Given the description of an element on the screen output the (x, y) to click on. 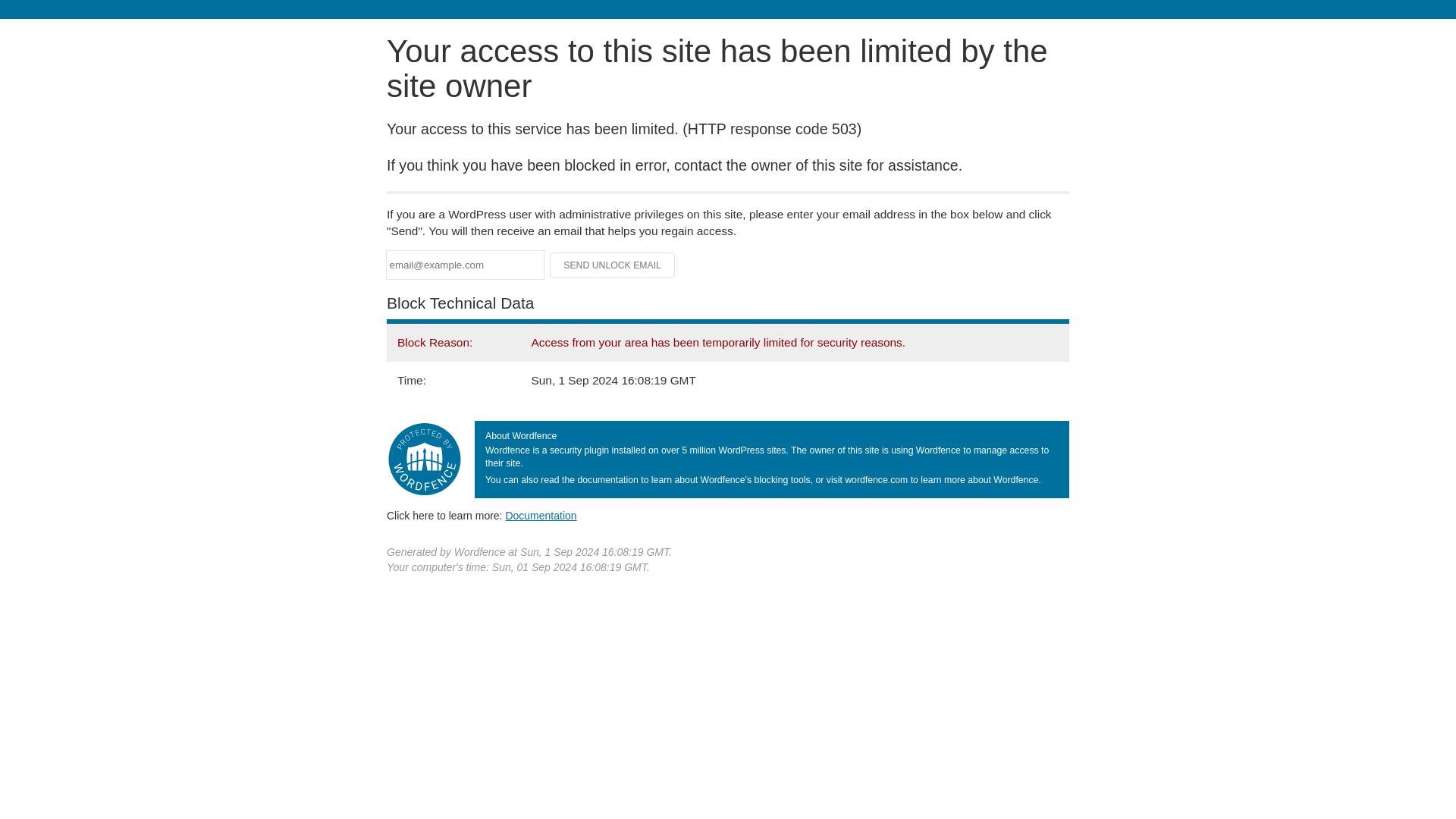
Documentation (540, 515)
Send Unlock Email (612, 265)
Send Unlock Email (612, 265)
